Given the description of an element on the screen output the (x, y) to click on. 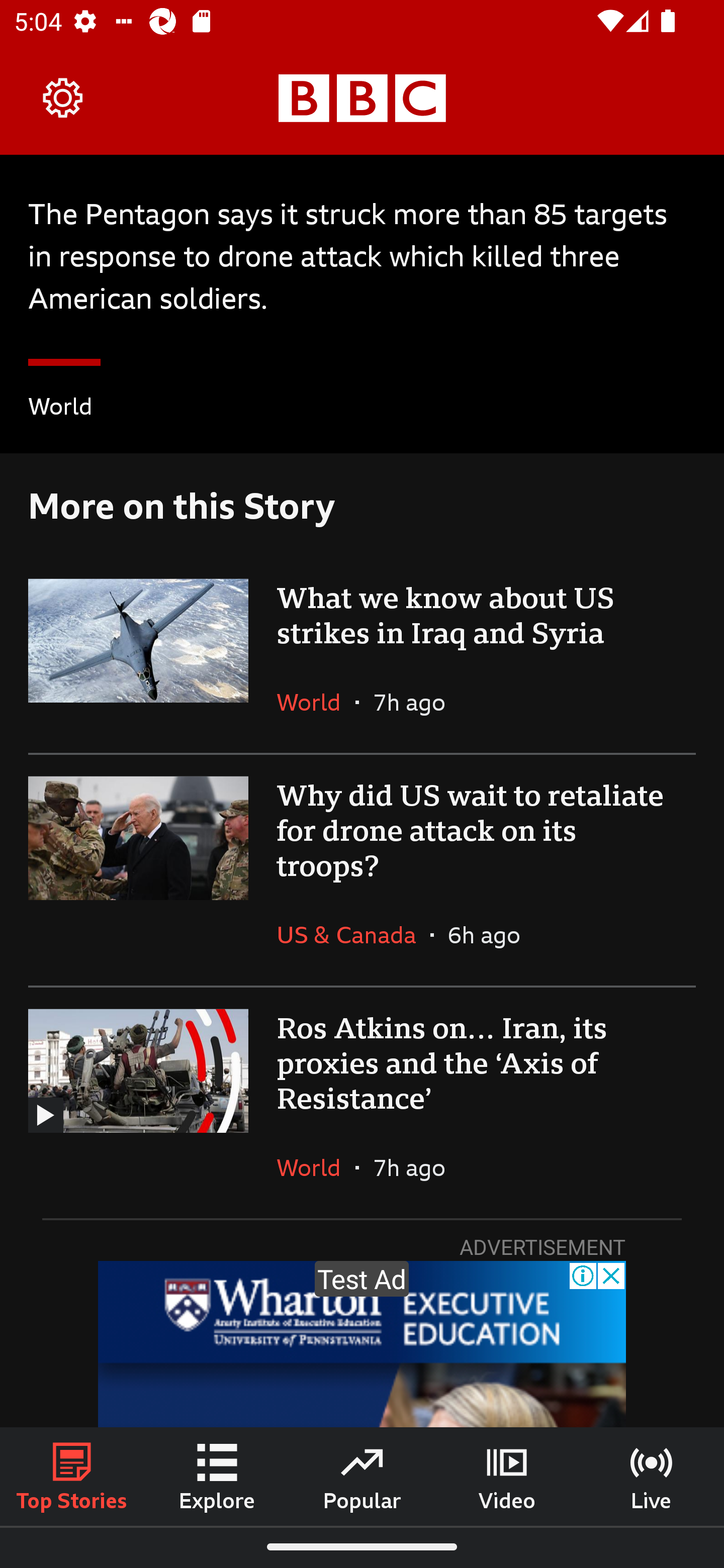
Settings (63, 97)
World In the section World (60, 409)
World In the section World (315, 701)
US & Canada In the section US & Canada (353, 935)
World In the section World (315, 1167)
Explore (216, 1475)
Popular (361, 1475)
Video (506, 1475)
Live (651, 1475)
